Given the description of an element on the screen output the (x, y) to click on. 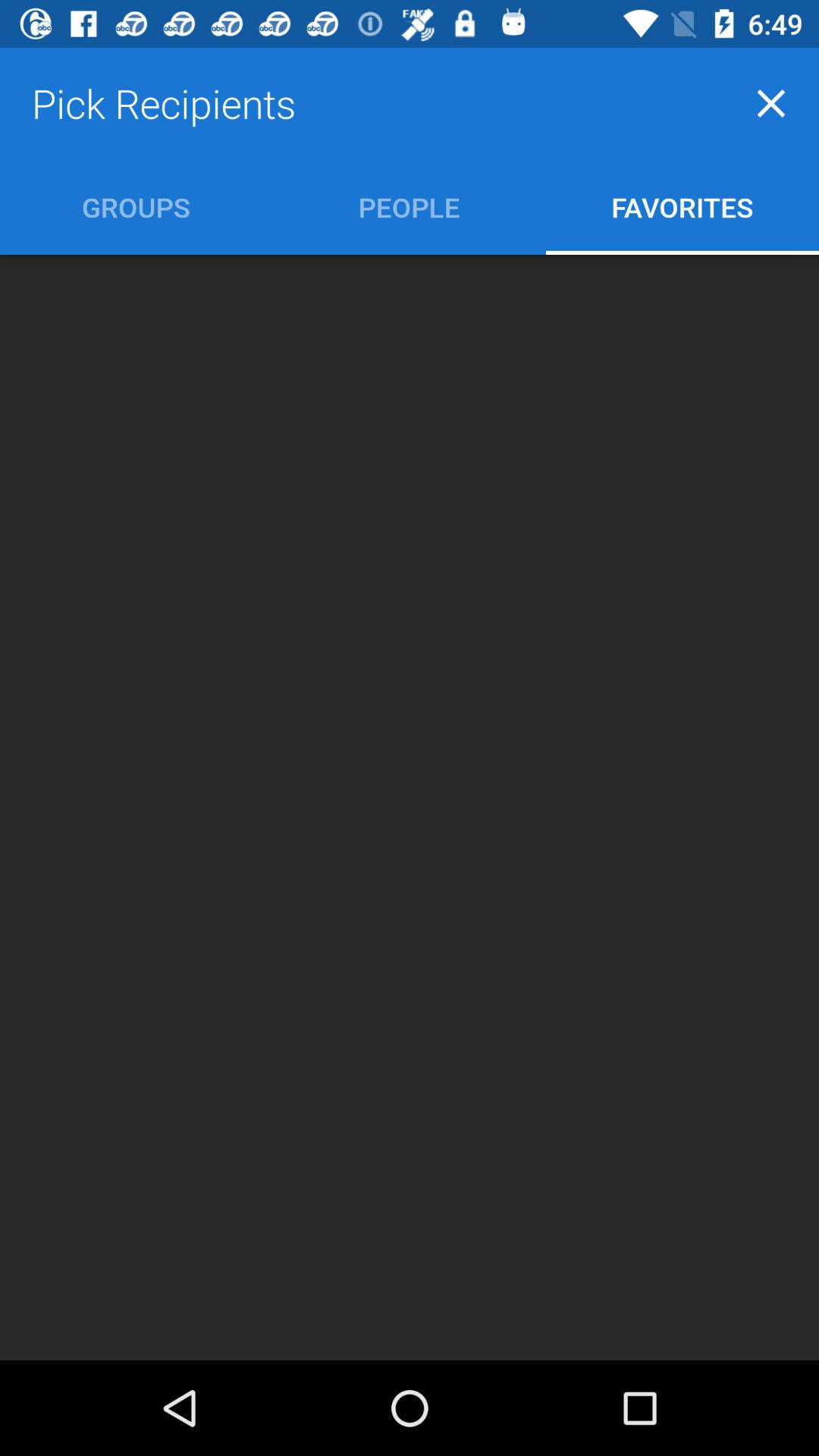
turn off item below pick recipients (136, 206)
